Given the description of an element on the screen output the (x, y) to click on. 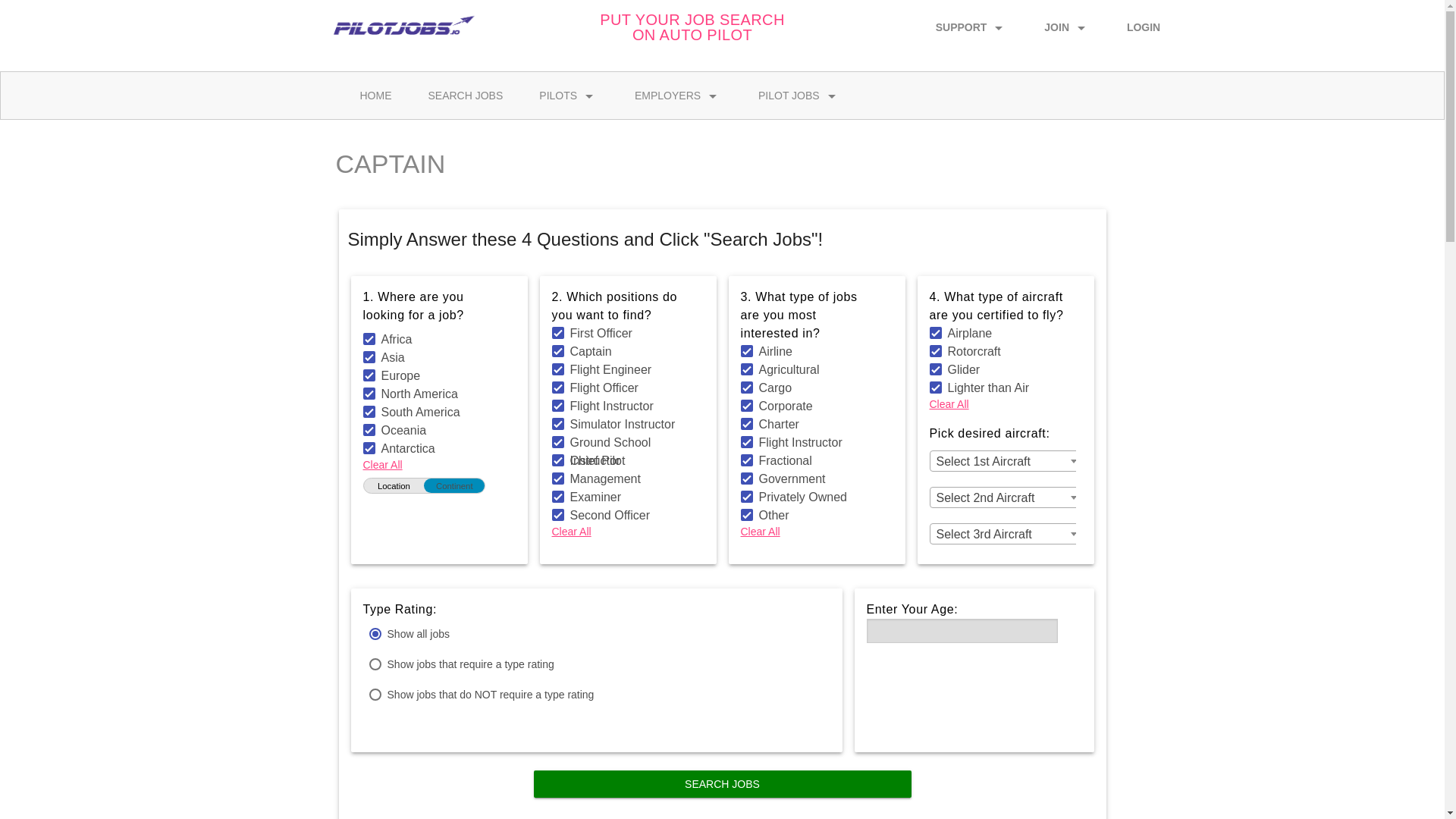
PILOT JOBS (799, 95)
HOME (374, 95)
Select 1st Aircraft (1005, 461)
EMPLOYERS (677, 95)
SUPPORT (971, 23)
PILOTS (568, 95)
JOIN (1067, 23)
LOGIN (1142, 23)
Select 3rd Aircraft (1005, 534)
SEARCH JOBS (465, 95)
PUT YOUR JOB SEARCH ON AUTO PILOT (691, 27)
Select 2nd Aircraft (1005, 497)
